Given the description of an element on the screen output the (x, y) to click on. 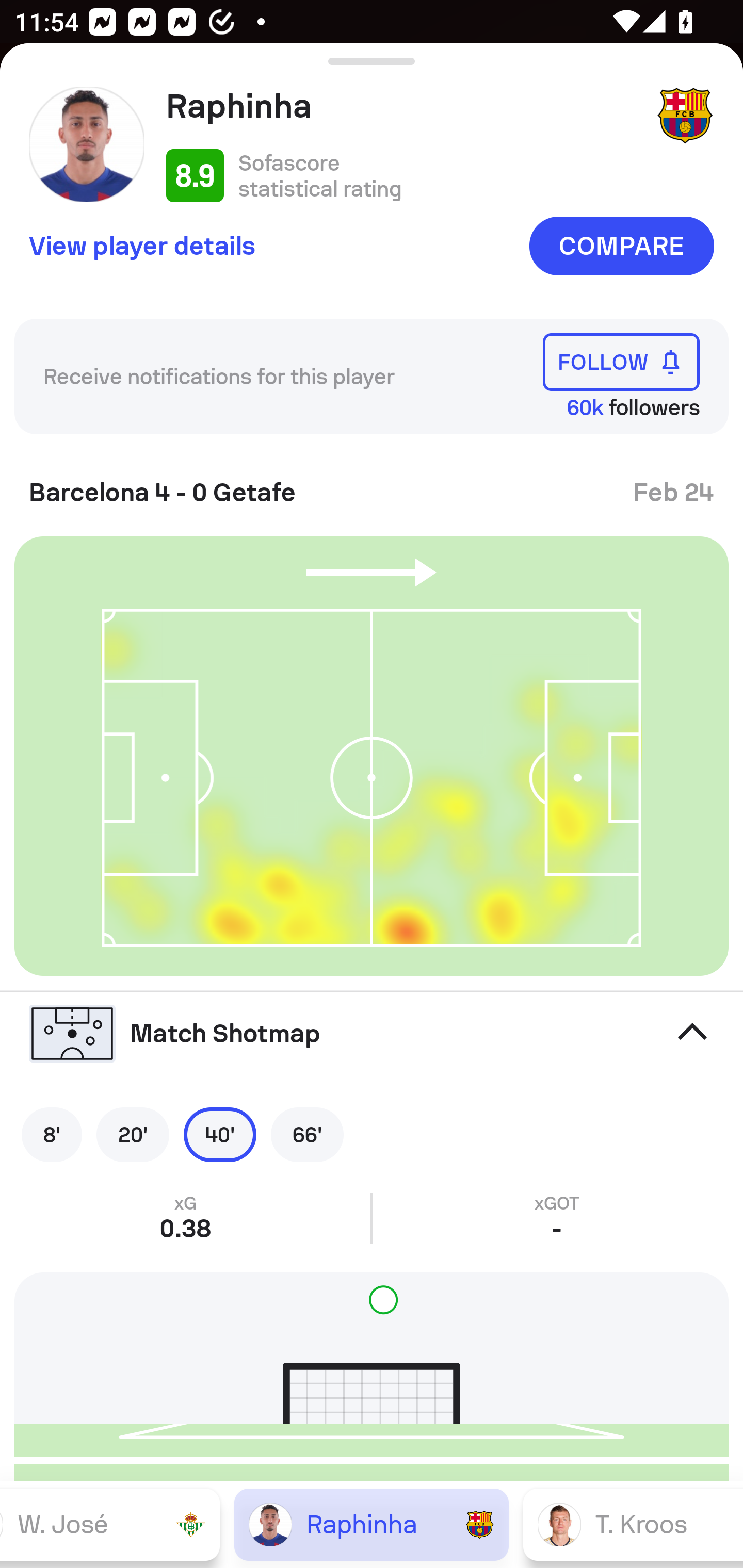
Raphinha (403, 105)
COMPARE (621, 245)
View player details (141, 245)
FOLLOW (621, 361)
Barcelona 4 - 0 Getafe Feb 24 (371, 485)
Match Shotmap (371, 1033)
8' (51, 1134)
20' (132, 1134)
40' (219, 1134)
66' (306, 1134)
W. José (109, 1524)
Raphinha (371, 1524)
T. Kroos (633, 1524)
